Given the description of an element on the screen output the (x, y) to click on. 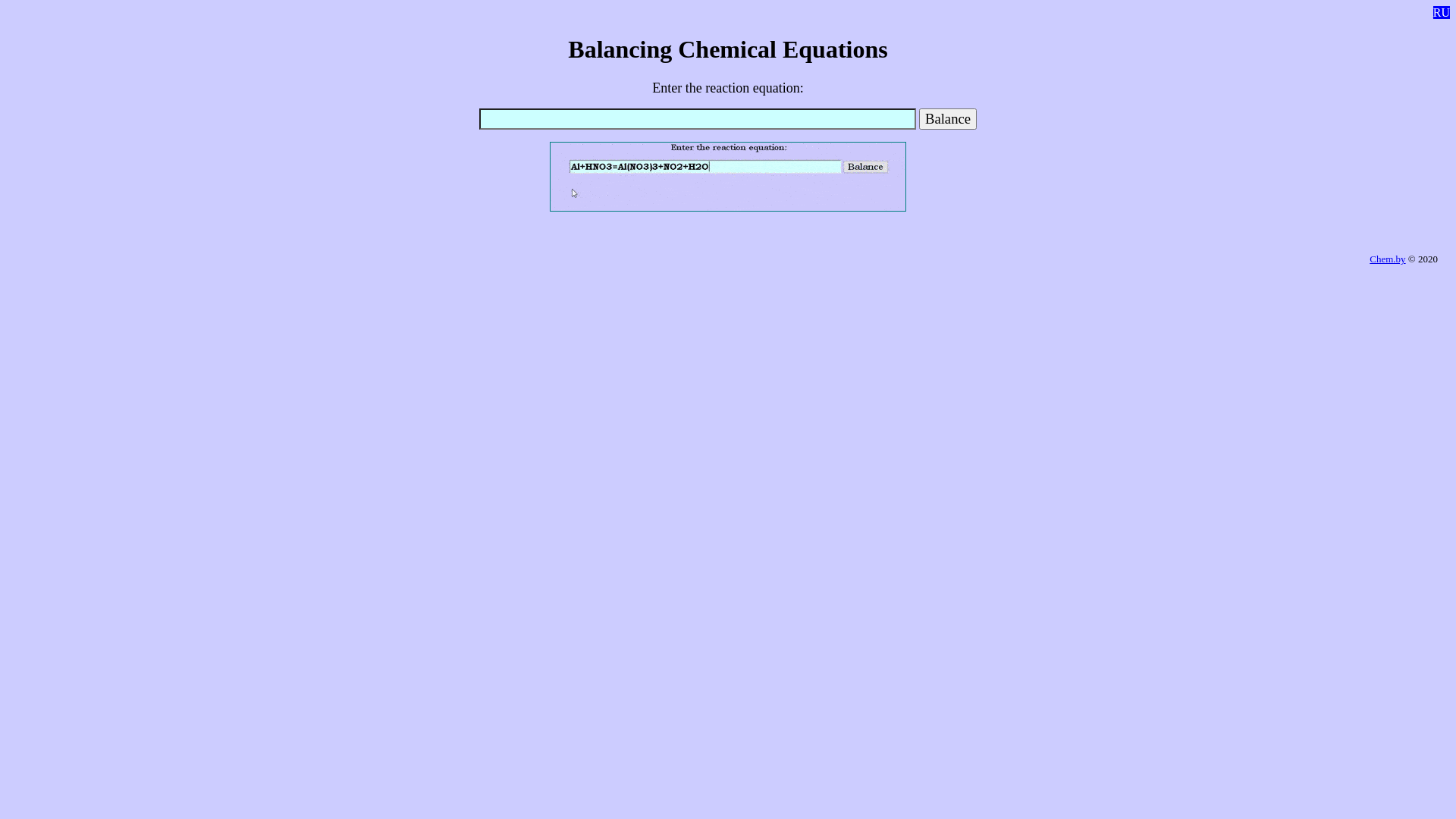
Chem.by Element type: text (1387, 258)
RU Element type: text (1441, 12)
Balance Element type: text (947, 118)
